Given the description of an element on the screen output the (x, y) to click on. 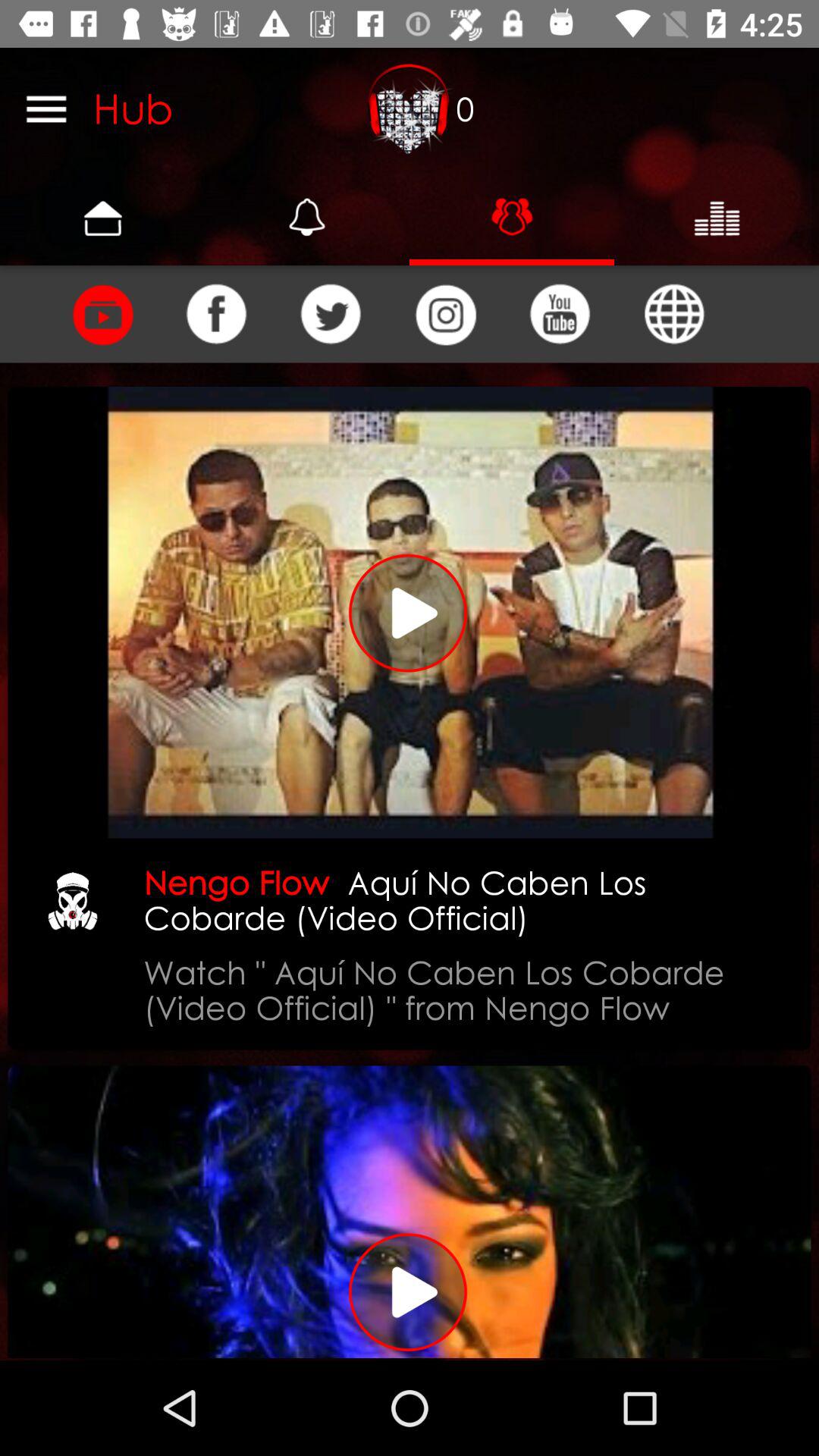
video play button (409, 612)
